Given the description of an element on the screen output the (x, y) to click on. 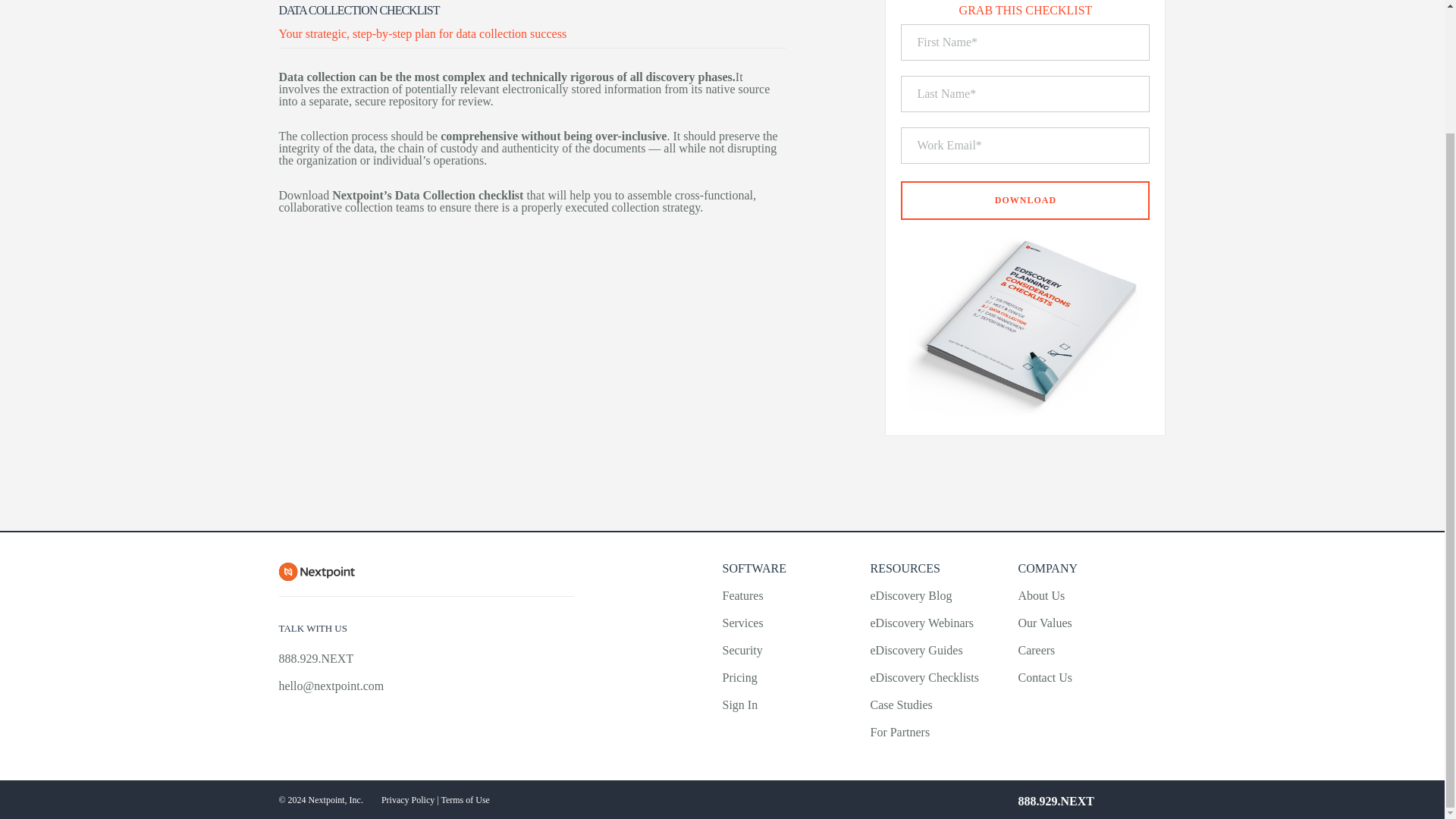
About Us (1040, 594)
Our Values (1044, 622)
Terms of Use (465, 799)
DOWNLOAD (1025, 200)
DOWNLOAD (1025, 200)
888.929.NEXT (316, 658)
Case Studies (900, 704)
Pricing (739, 676)
Security (741, 649)
888.929.NEXT (1055, 800)
